Given the description of an element on the screen output the (x, y) to click on. 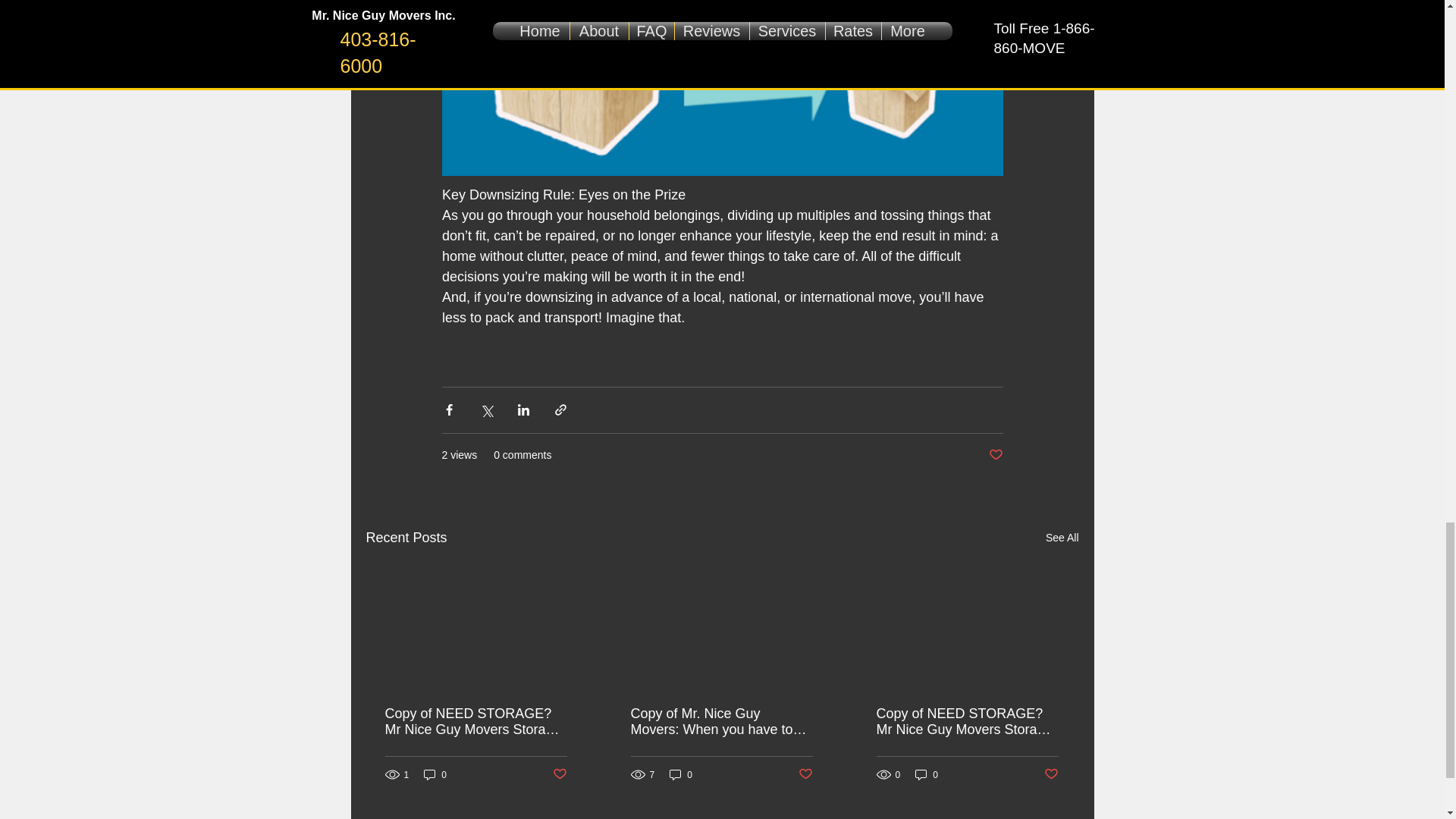
Post not marked as liked (558, 774)
Post not marked as liked (995, 455)
0 (435, 774)
See All (1061, 537)
Copy of NEED STORAGE? Mr Nice Guy Movers Storage Solutions (476, 721)
Copy of Mr. Nice Guy Movers: When you have to move fast (721, 721)
